Given the description of an element on the screen output the (x, y) to click on. 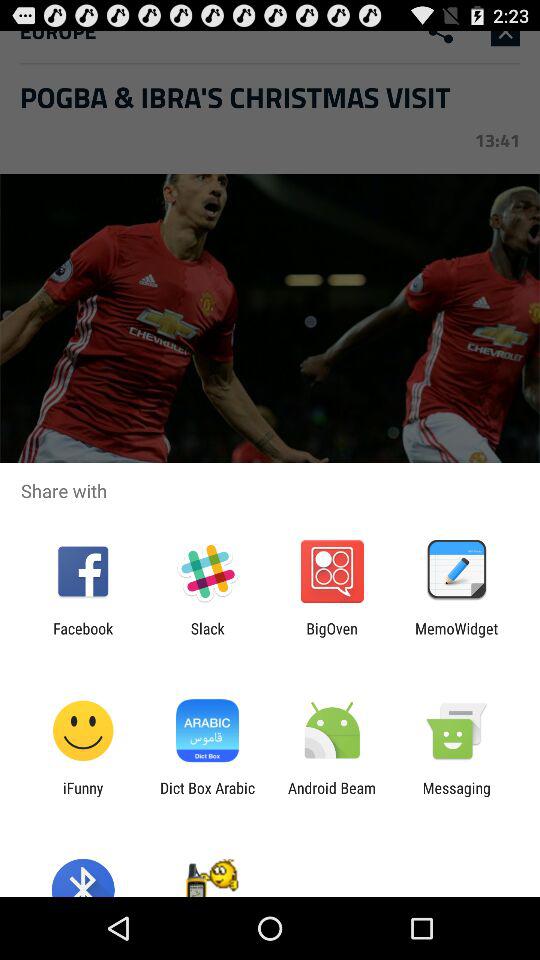
tap dict box arabic icon (207, 796)
